Given the description of an element on the screen output the (x, y) to click on. 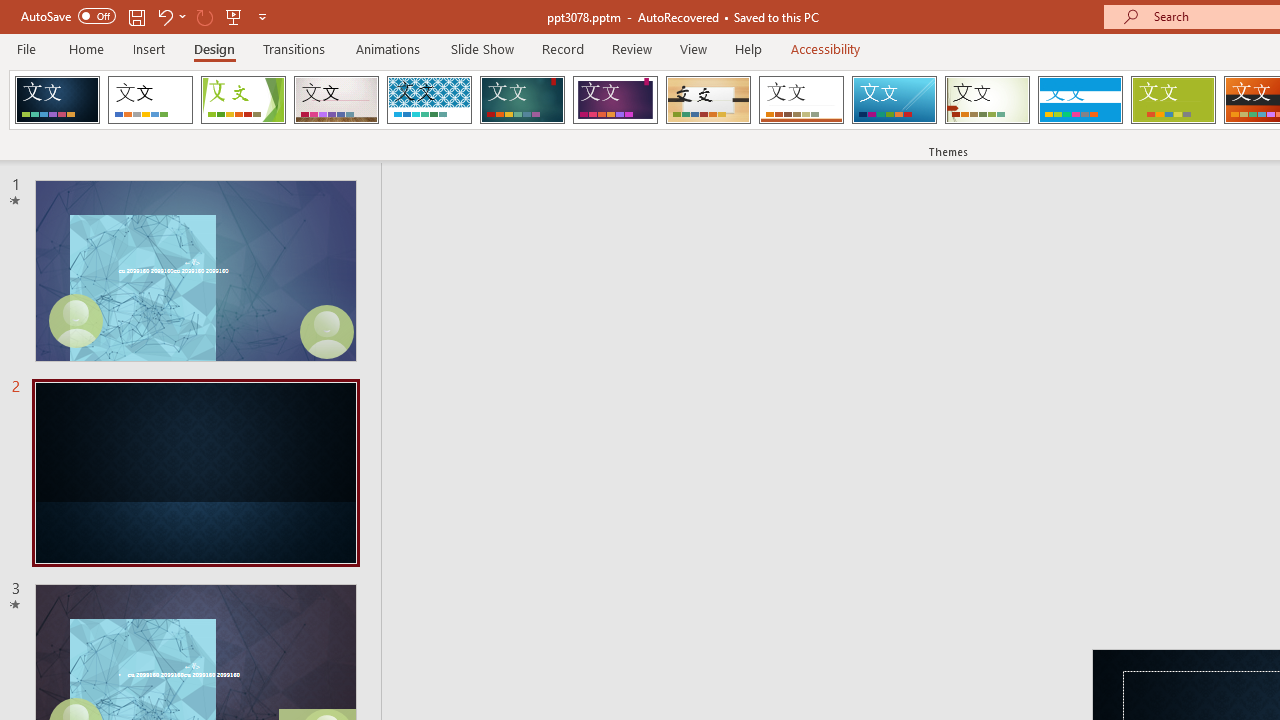
Slice (893, 100)
Banded (1080, 100)
Ion (522, 100)
Ion Boardroom (615, 100)
Retrospect (801, 100)
Organic (708, 100)
